Given the description of an element on the screen output the (x, y) to click on. 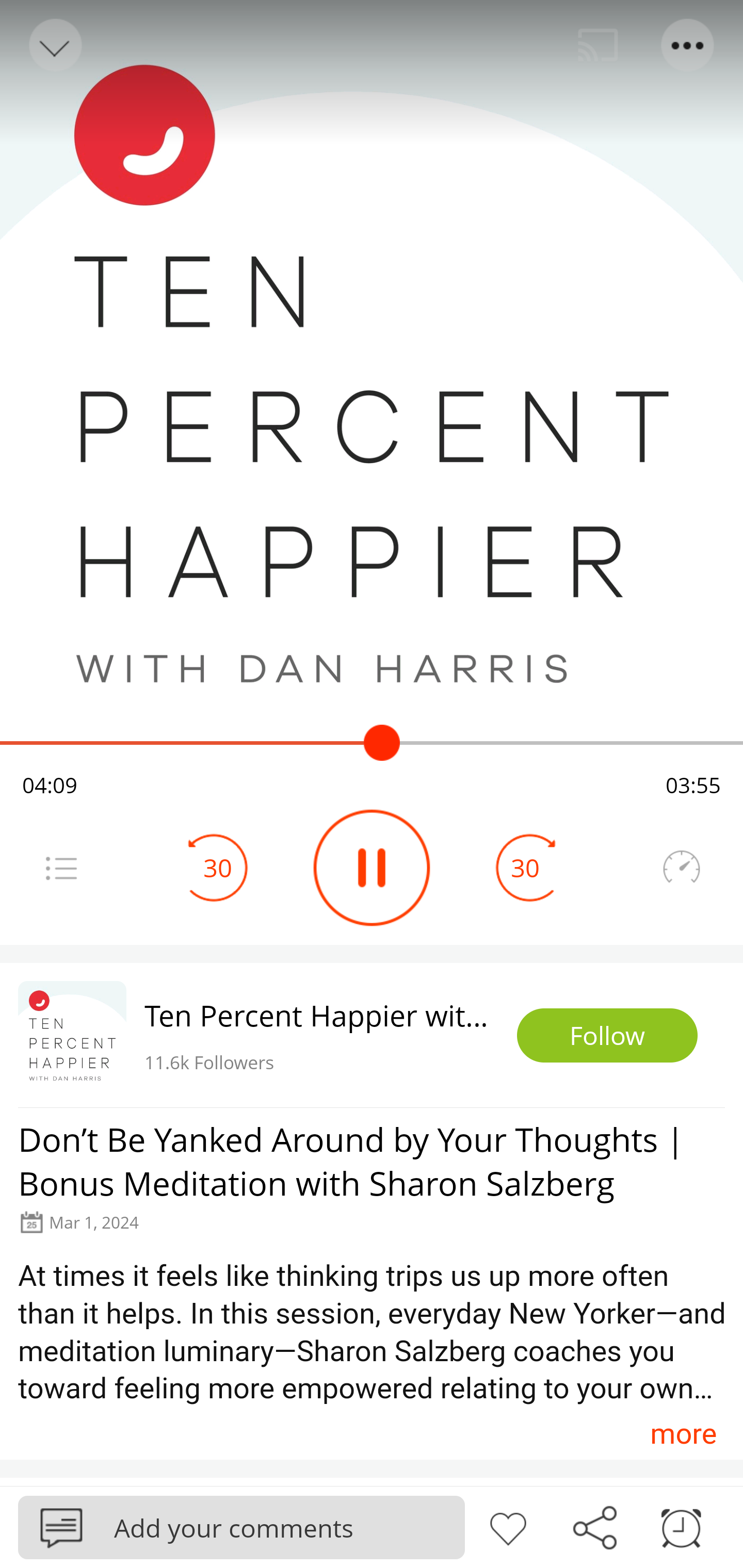
Back (53, 45)
Cast. Disconnected (597, 45)
Menu (688, 45)
Play (371, 867)
30 Seek Backward (217, 867)
30 Seek Forward (525, 867)
Menu (60, 867)
Speedometer (681, 867)
Follow (607, 1035)
more (682, 1432)
Like (508, 1526)
Share (594, 1526)
Sleep timer (681, 1526)
Podbean Add your comments (241, 1526)
